Given the description of an element on the screen output the (x, y) to click on. 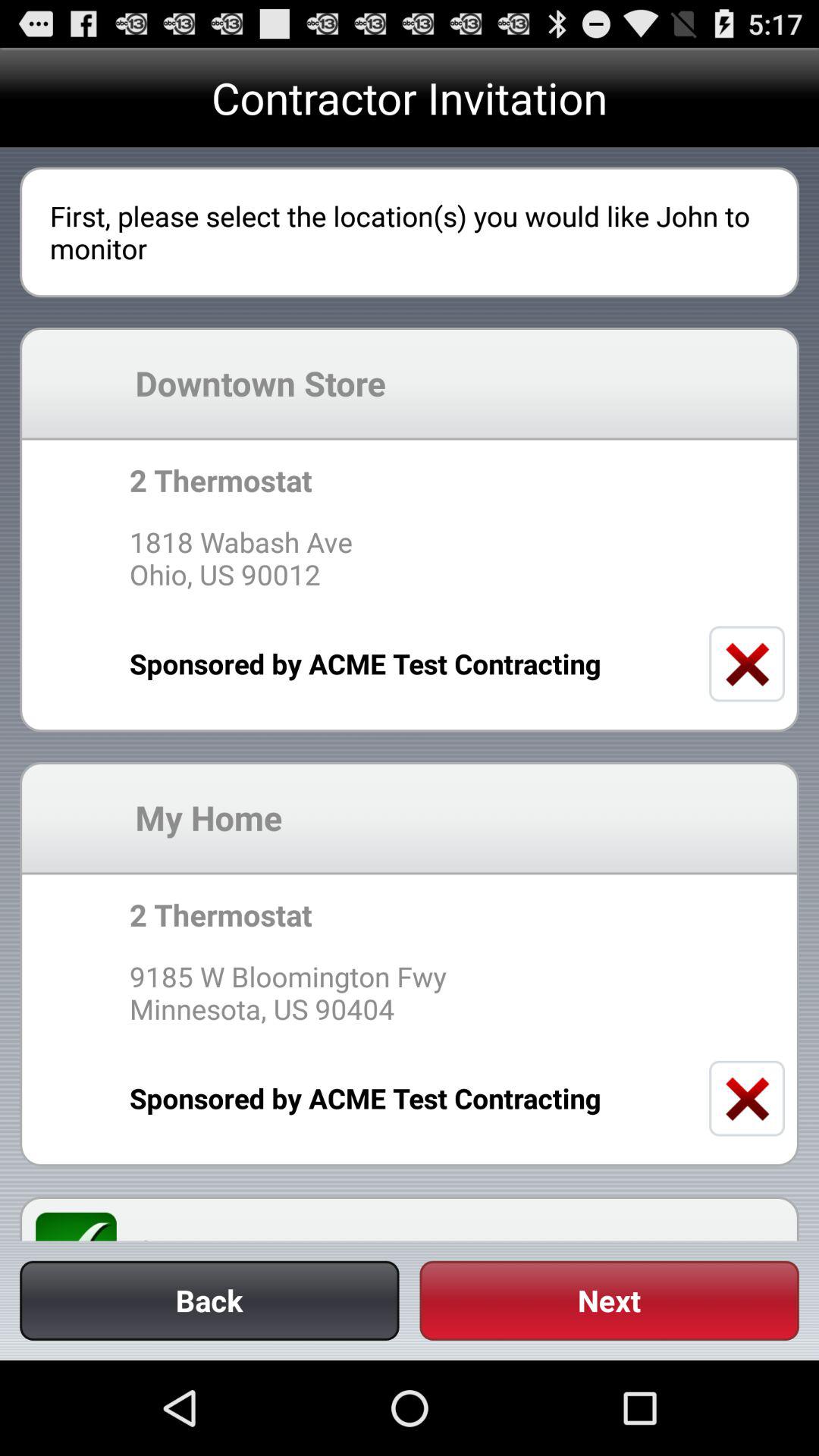
scroll until the summer home app (459, 1235)
